Given the description of an element on the screen output the (x, y) to click on. 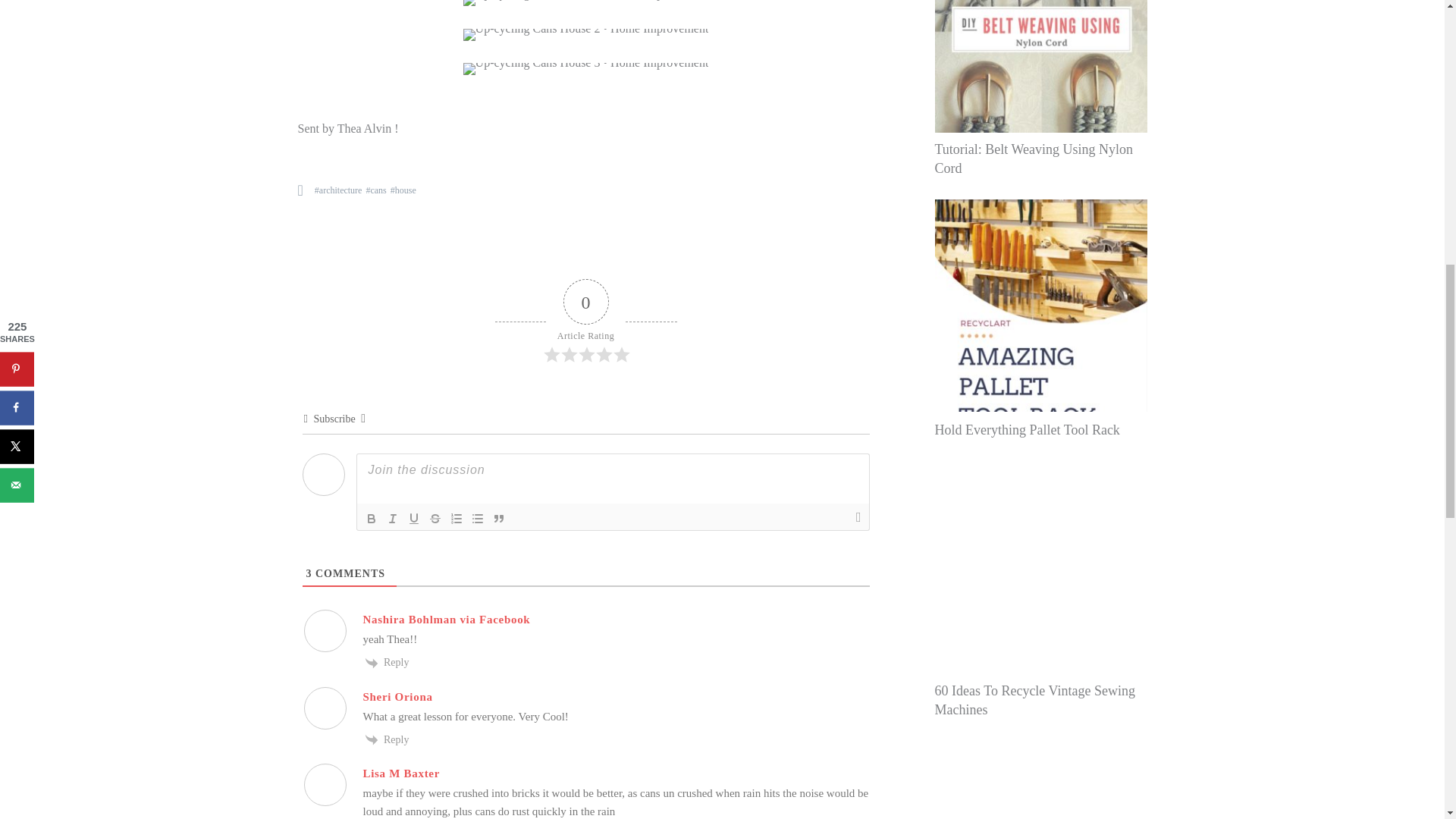
Cans House 01 (586, 69)
Cans House 02 (586, 34)
Cans House 03 (586, 2)
